Given the description of an element on the screen output the (x, y) to click on. 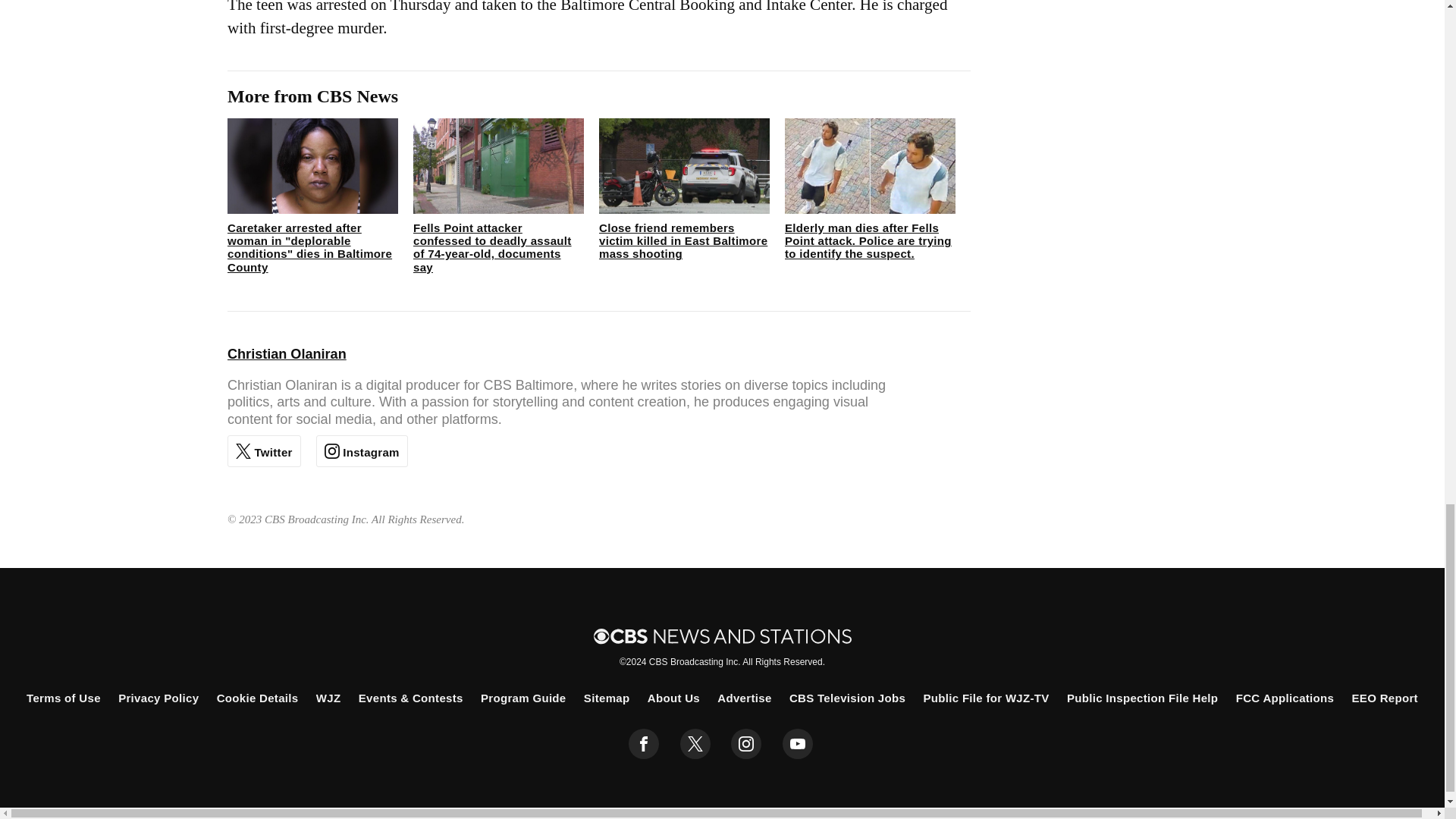
facebook (643, 743)
twitter (694, 743)
instagram (745, 743)
youtube (797, 743)
